Given the description of an element on the screen output the (x, y) to click on. 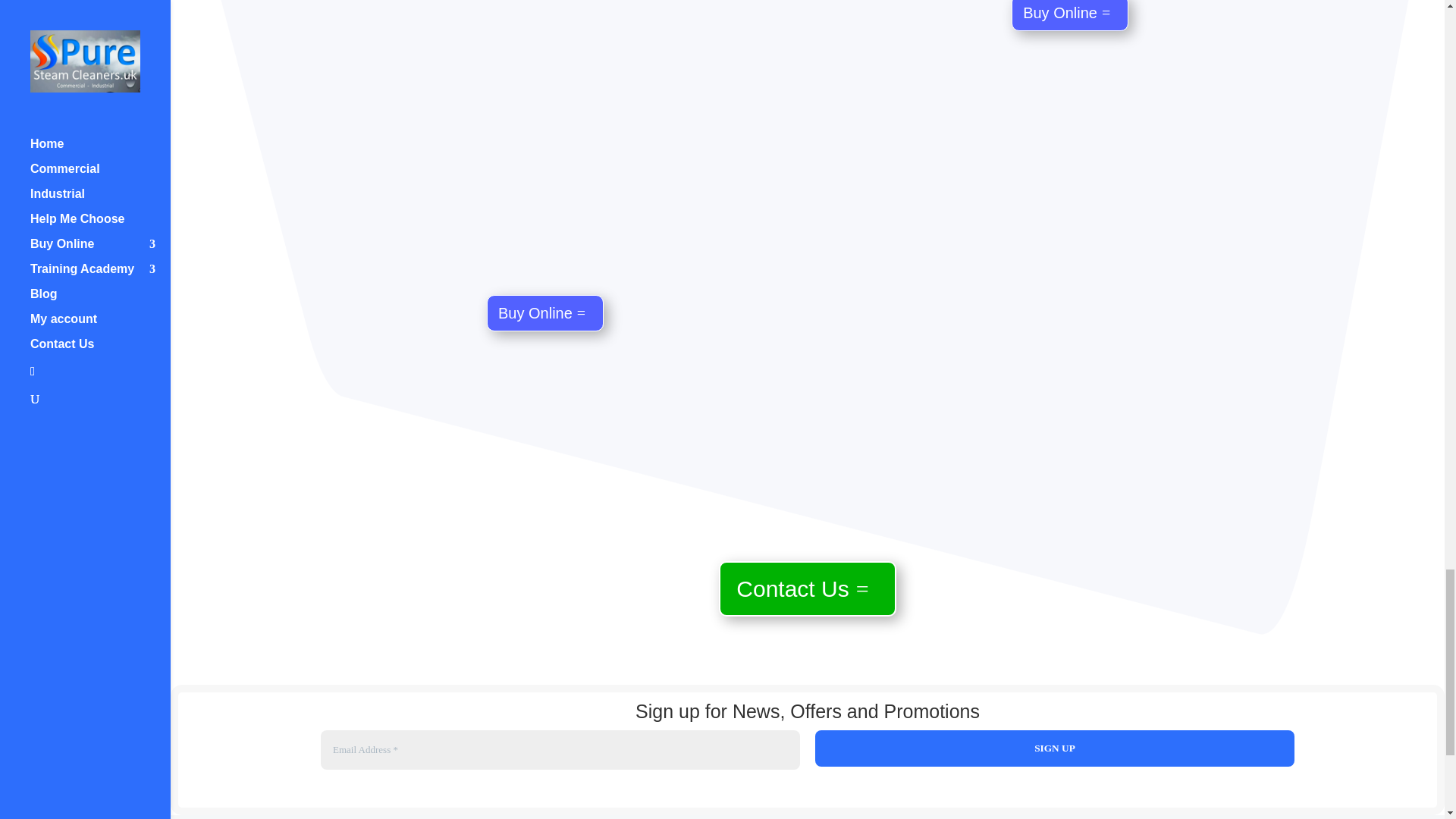
Contact Us (807, 588)
SIGN UP (1054, 748)
Email Address (559, 749)
Buy Online (545, 312)
Buy Online (1069, 15)
SIGN UP (1054, 748)
